Given the description of an element on the screen output the (x, y) to click on. 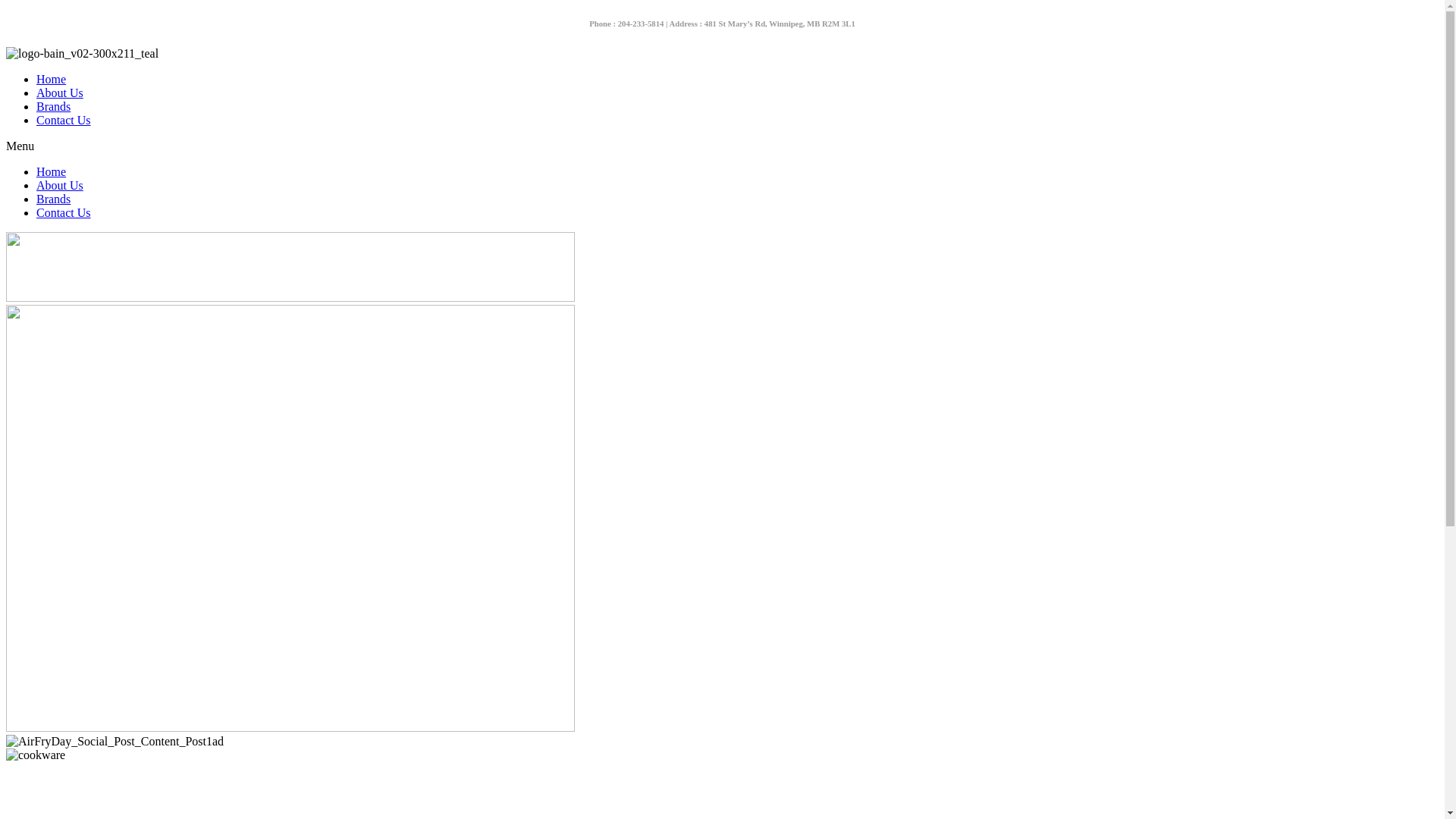
Home Element type: text (50, 171)
Brands Element type: text (53, 198)
cookware Element type: hover (35, 755)
Brands Element type: text (53, 106)
Contact Us Element type: text (63, 212)
About Us Element type: text (59, 92)
Contact Us Element type: text (63, 119)
AirFryDay_Social_Post_Content_Post1ad Element type: hover (114, 741)
About Us Element type: text (59, 184)
Home Element type: text (50, 78)
logo-bain_v02-300x211_teal Element type: hover (82, 53)
